Given the description of an element on the screen output the (x, y) to click on. 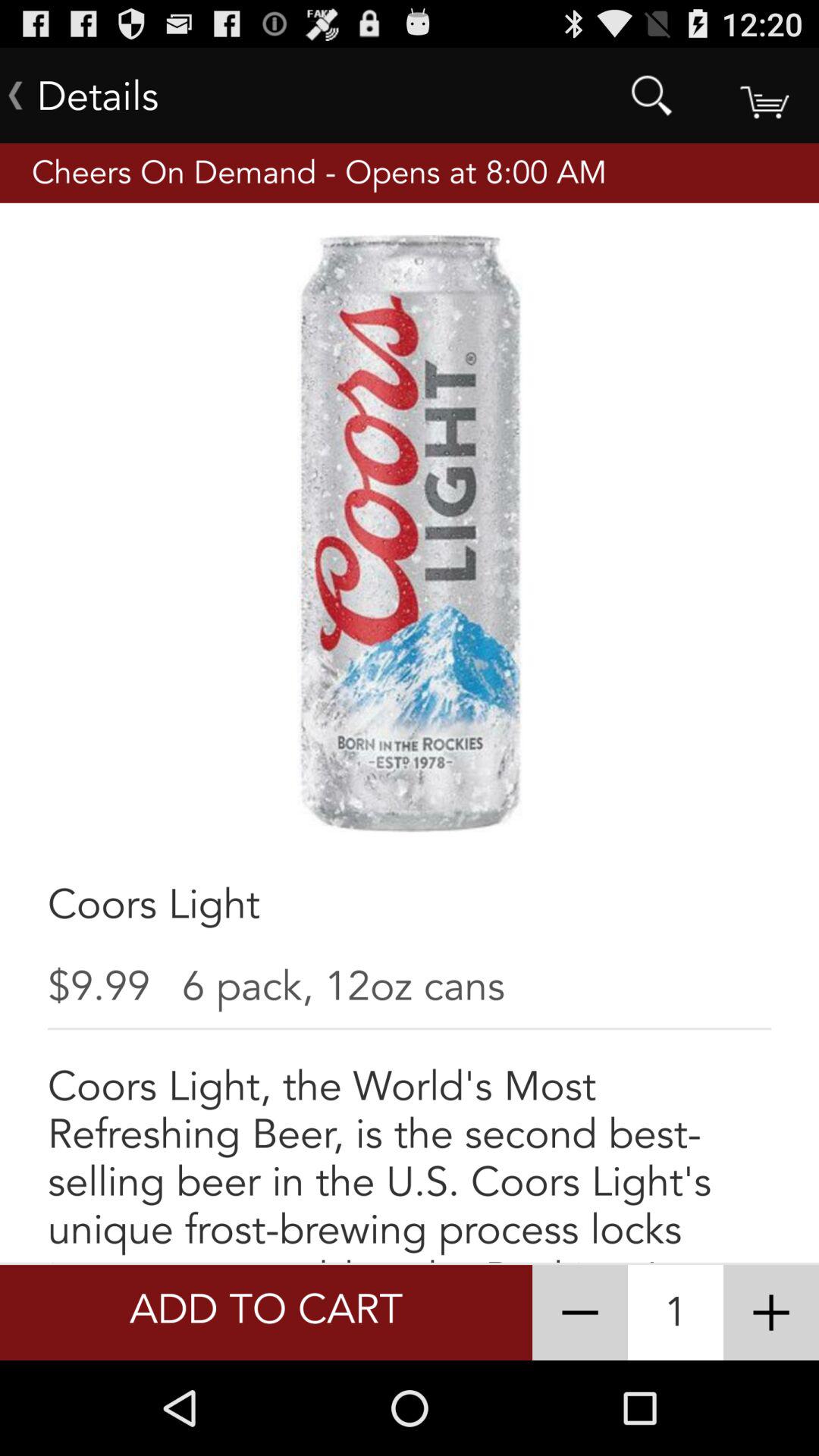
subtracts a quantity of the product (579, 1312)
